Given the description of an element on the screen output the (x, y) to click on. 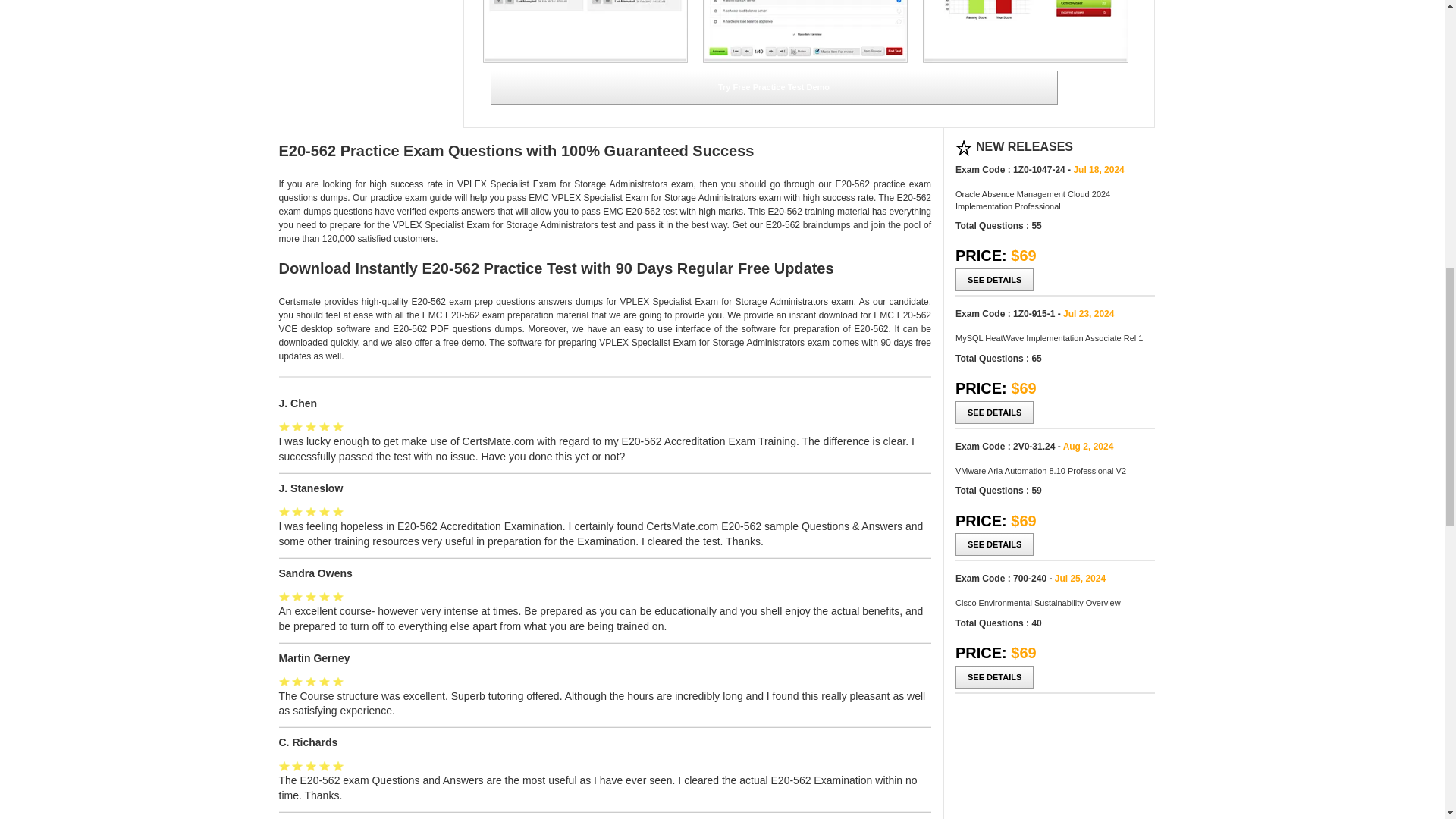
SEE DETAILS (994, 544)
SEE DETAILS (994, 412)
Try Free Practice Test Demo (773, 87)
SEE DETAILS (994, 676)
SEE DETAILS (994, 279)
